Given the description of an element on the screen output the (x, y) to click on. 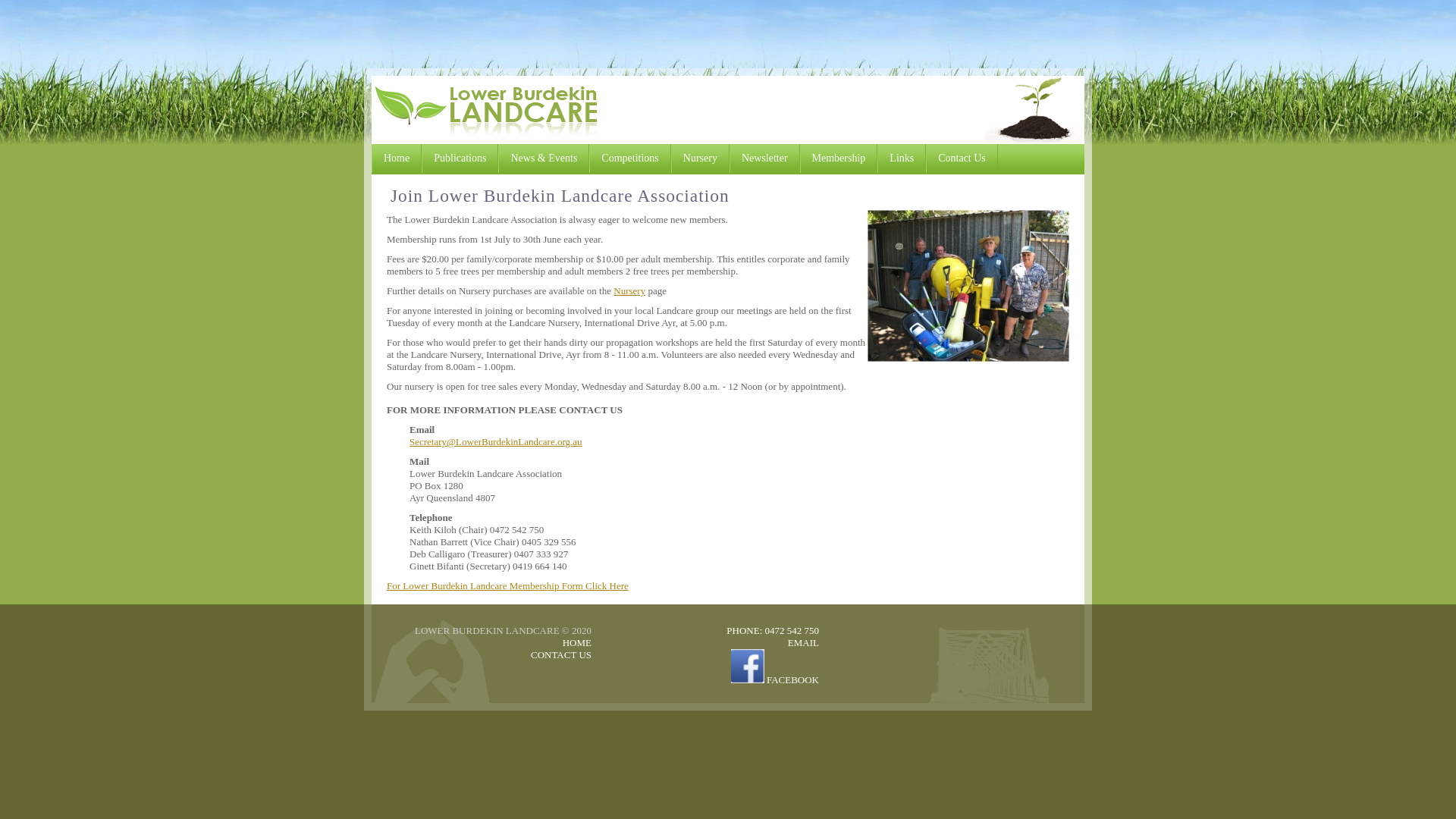
FACEBOOK Element type: text (775, 679)
PHONE: 0472 542 750 Element type: text (772, 630)
For Lower Burdekin Landcare Membership Form Click Here Element type: text (507, 585)
Membership Element type: text (839, 158)
Contact Us Element type: text (961, 158)
HOME Element type: text (576, 642)
Links Element type: text (901, 158)
CONTACT US Element type: text (560, 654)
Newsletter Element type: text (764, 158)
Competitions Element type: text (629, 158)
Publications Element type: text (459, 158)
Nursery Element type: text (629, 290)
Secretary@LowerBurdekinLandcare.org.au Element type: text (495, 441)
Nursery Element type: text (700, 158)
Home Element type: text (396, 158)
News & Events Element type: text (543, 158)
EMAIL Element type: text (803, 642)
